Given the description of an element on the screen output the (x, y) to click on. 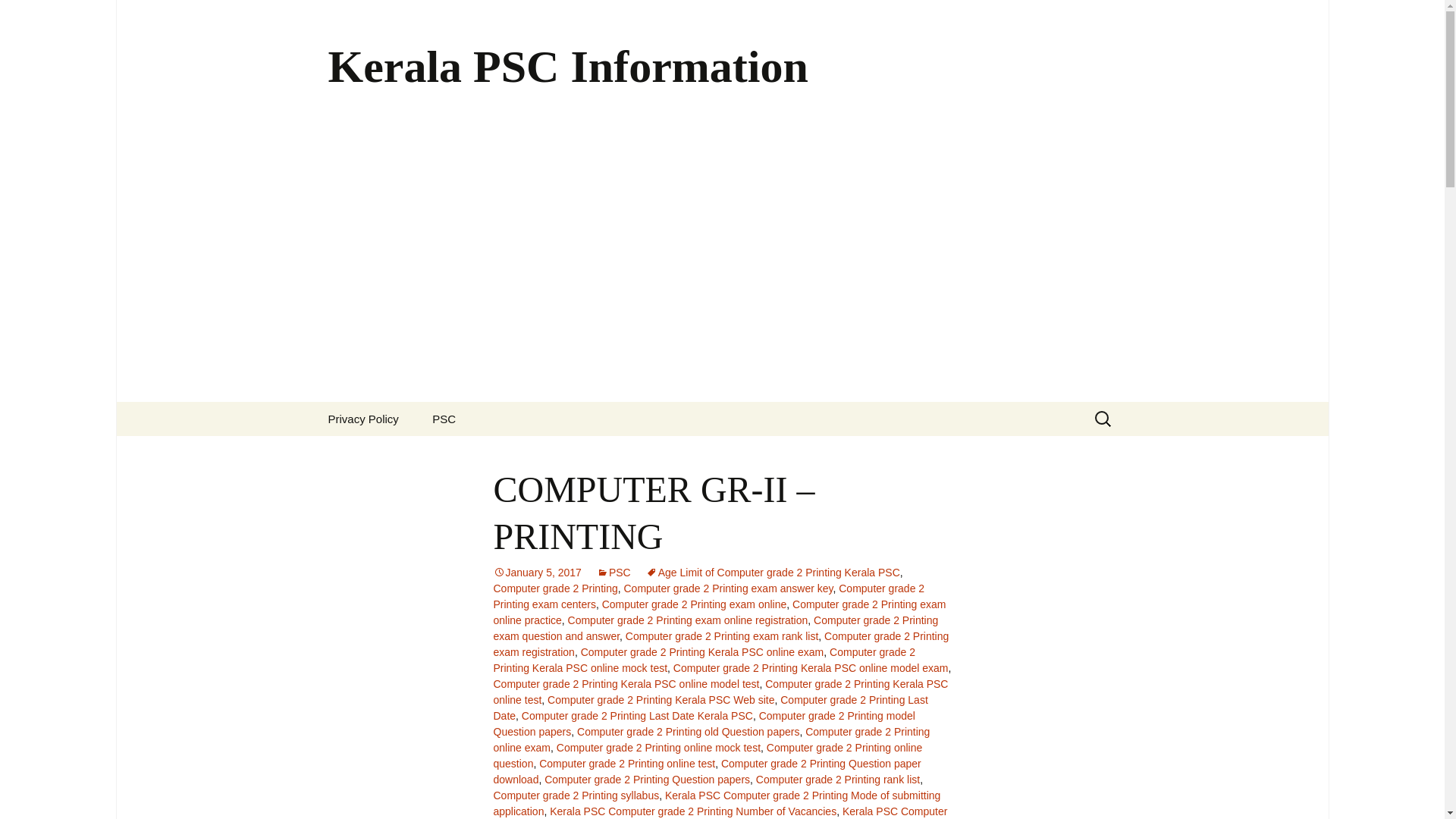
Computer grade 2 Printing Kerala PSC online model test (625, 684)
Computer grade 2 Printing Kerala PSC Web site (660, 699)
Computer grade 2 Printing online question (707, 755)
Computer grade 2 Printing Kerala PSC online mock test (703, 660)
PSC (443, 418)
Computer grade 2 Printing Last Date Kerala PSC (636, 715)
Computer grade 2 Printing Question papers (646, 779)
Age Limit of Computer grade 2 Printing Kerala PSC (772, 572)
Computer grade 2 Printing online mock test (658, 747)
January 5, 2017 (536, 572)
Computer grade 2 Printing Kerala PSC online exam (702, 652)
Computer grade 2 Printing rank list (837, 779)
Computer grade 2 Printing (555, 588)
Computer grade 2 Printing online test (626, 763)
